Given the description of an element on the screen output the (x, y) to click on. 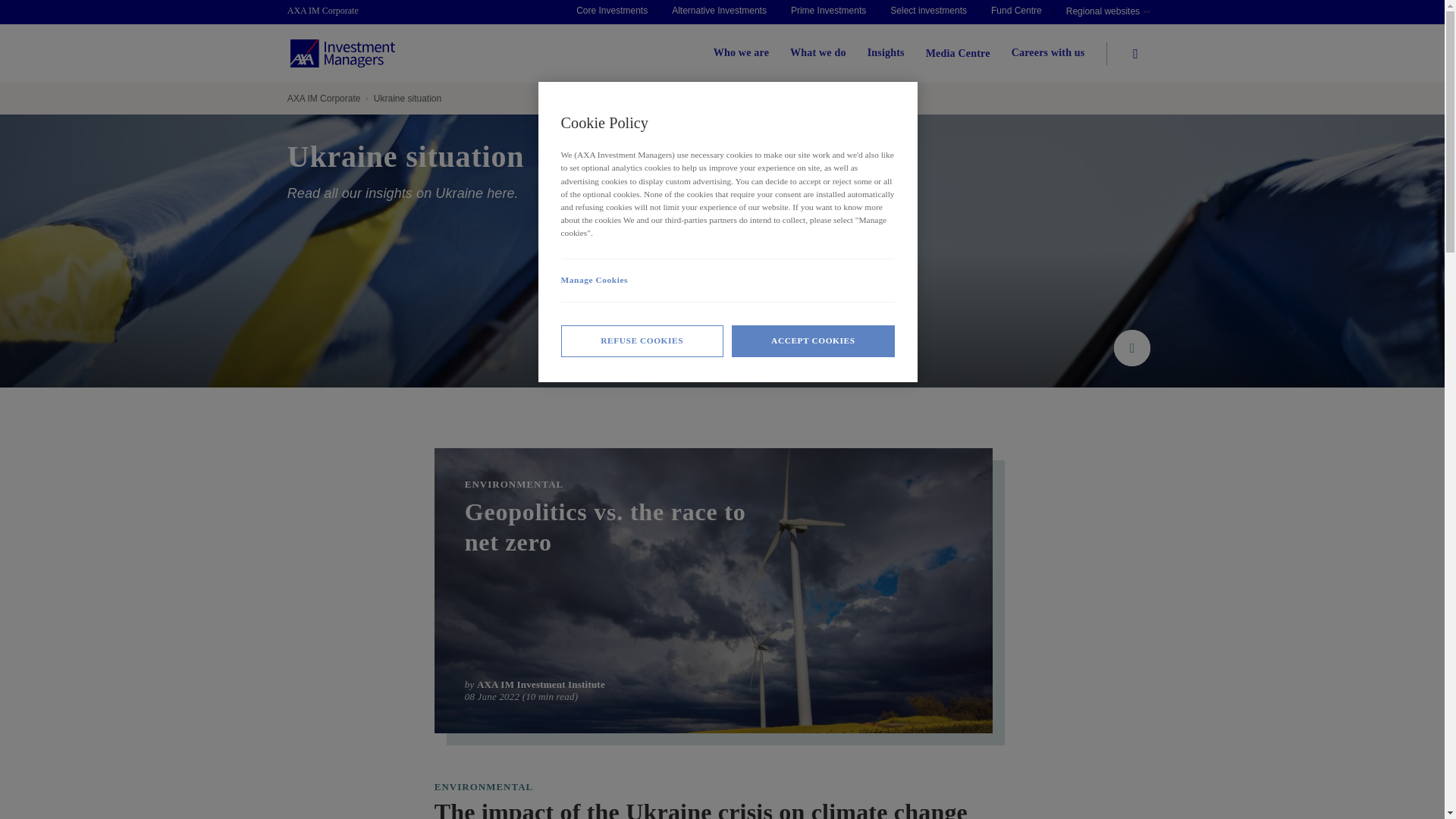
Regional websites (1107, 12)
Core Investments (611, 12)
Home (330, 10)
Prime Investments (827, 12)
Who we are (740, 53)
Fund Centre (1016, 12)
Access the Fund Centre (1016, 12)
Visit Core Investments website (611, 12)
AXA IM Corporate (330, 10)
Alternative Investments (718, 12)
Visit Alternative Investments website (718, 12)
Regional websites (1107, 12)
Select investments (927, 12)
